Given the description of an element on the screen output the (x, y) to click on. 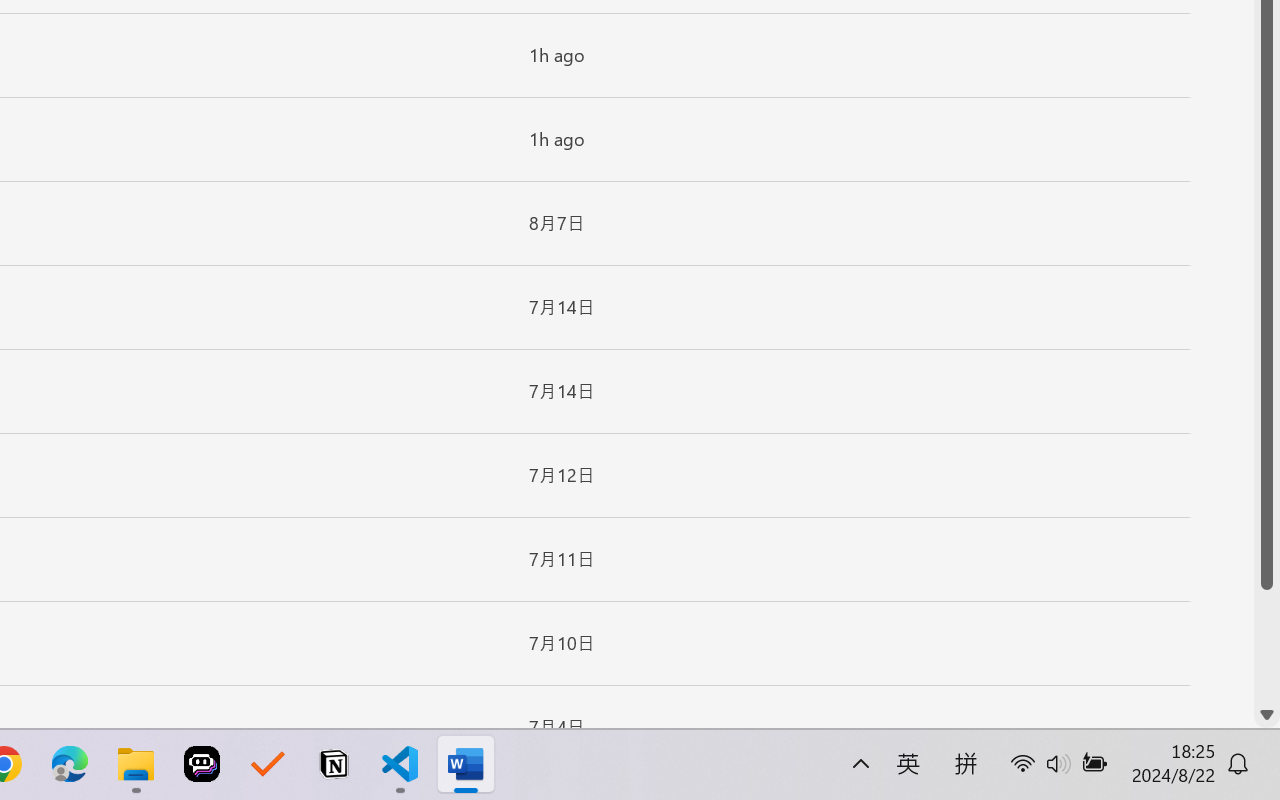
Line down (1267, 715)
Page down (1267, 646)
Pin this item to the list (480, 727)
